Given the description of an element on the screen output the (x, y) to click on. 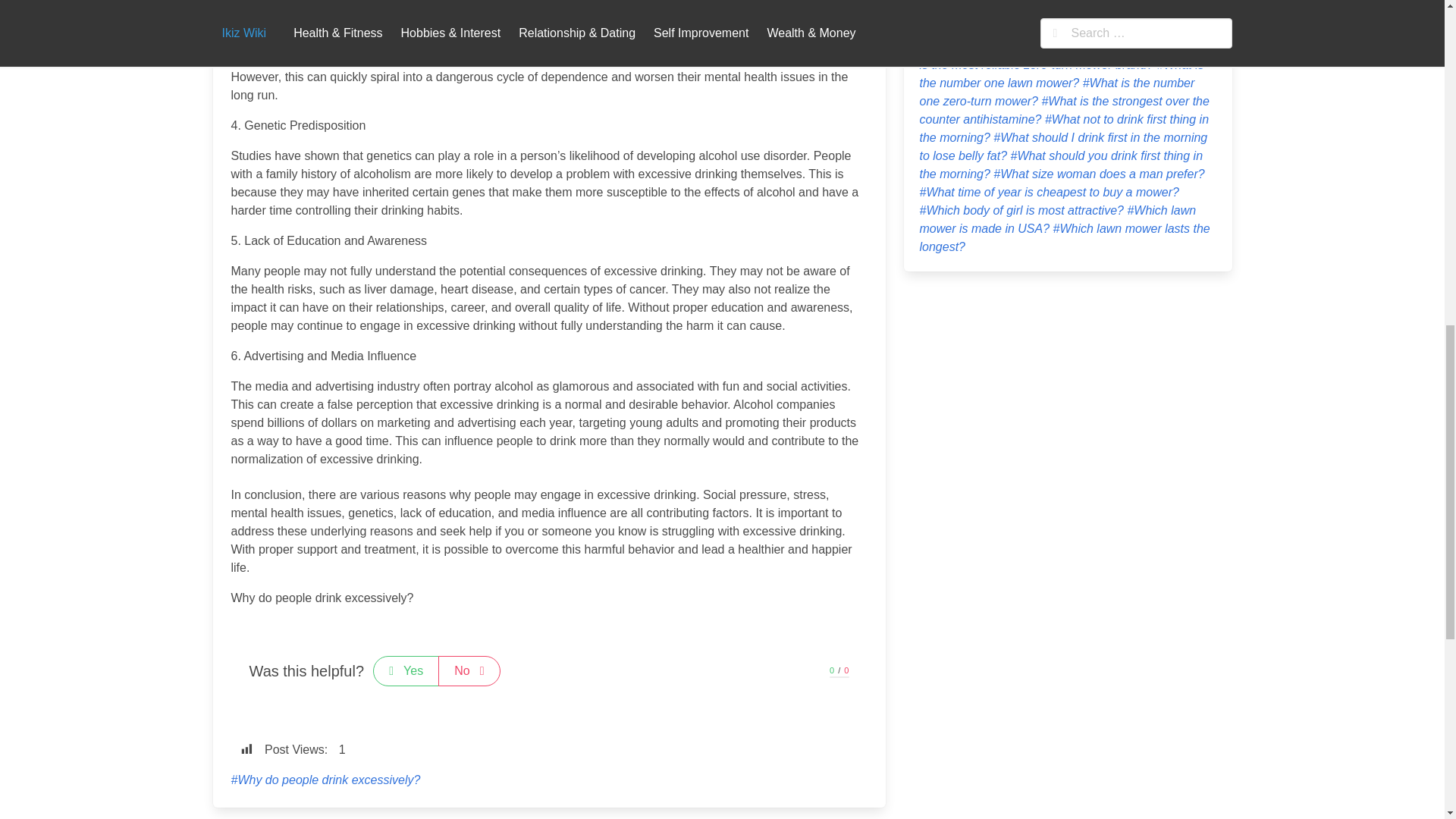
No (468, 671)
Yes (405, 671)
